Given the description of an element on the screen output the (x, y) to click on. 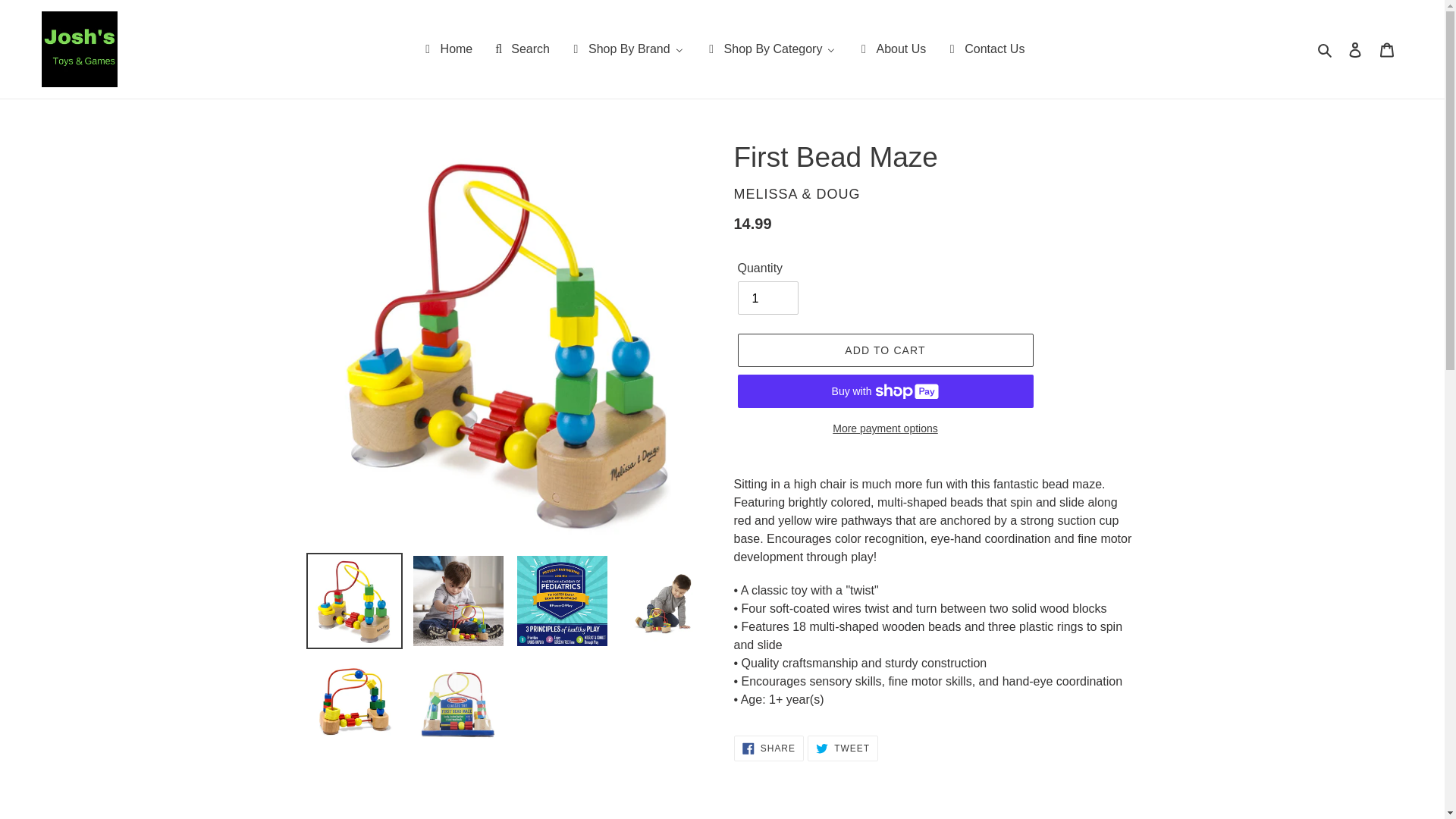
Home (445, 49)
Search (520, 49)
Shop By Brand (626, 49)
1 (766, 297)
